Given the description of an element on the screen output the (x, y) to click on. 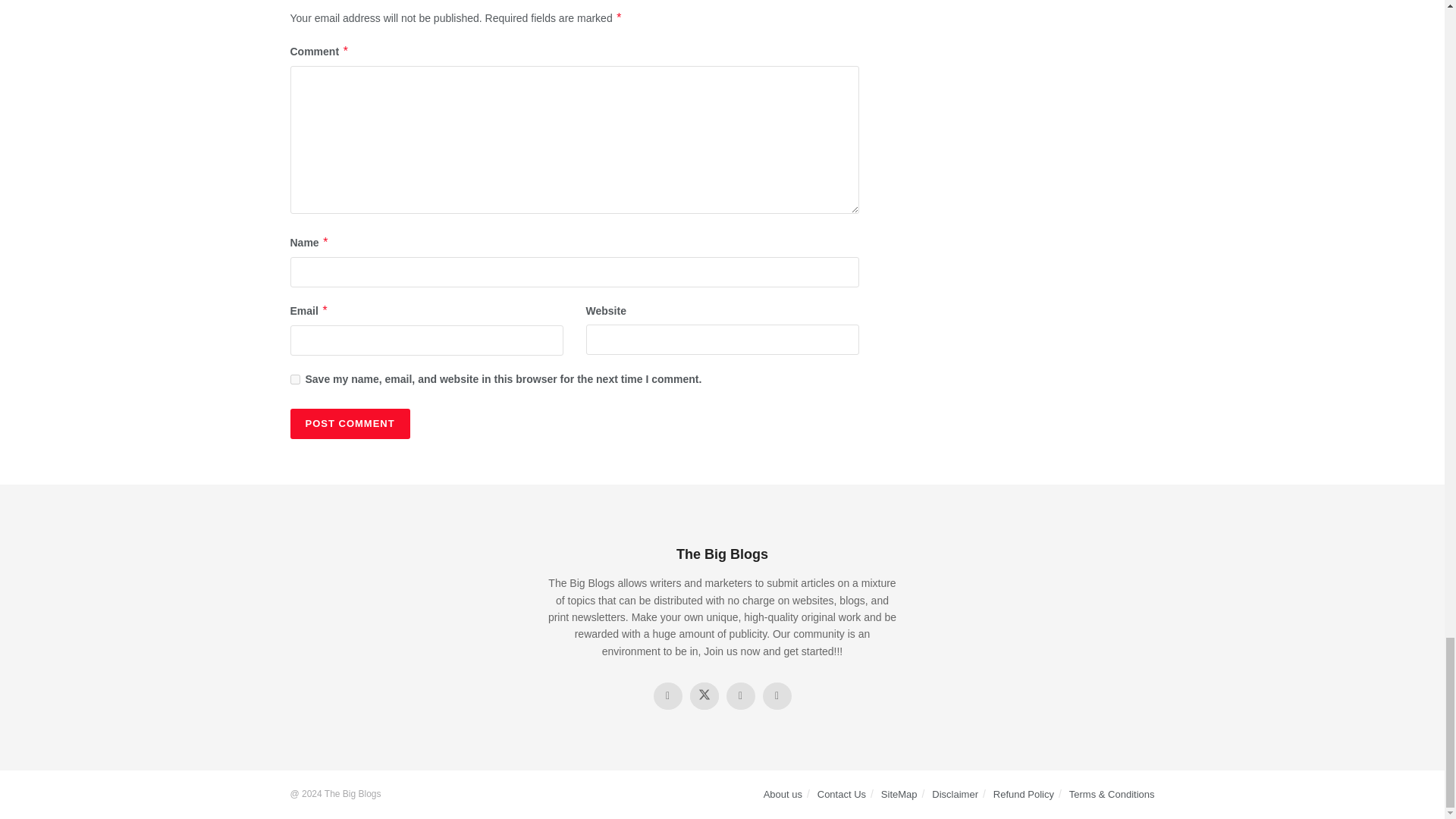
Post Comment (349, 423)
yes (294, 379)
